Given the description of an element on the screen output the (x, y) to click on. 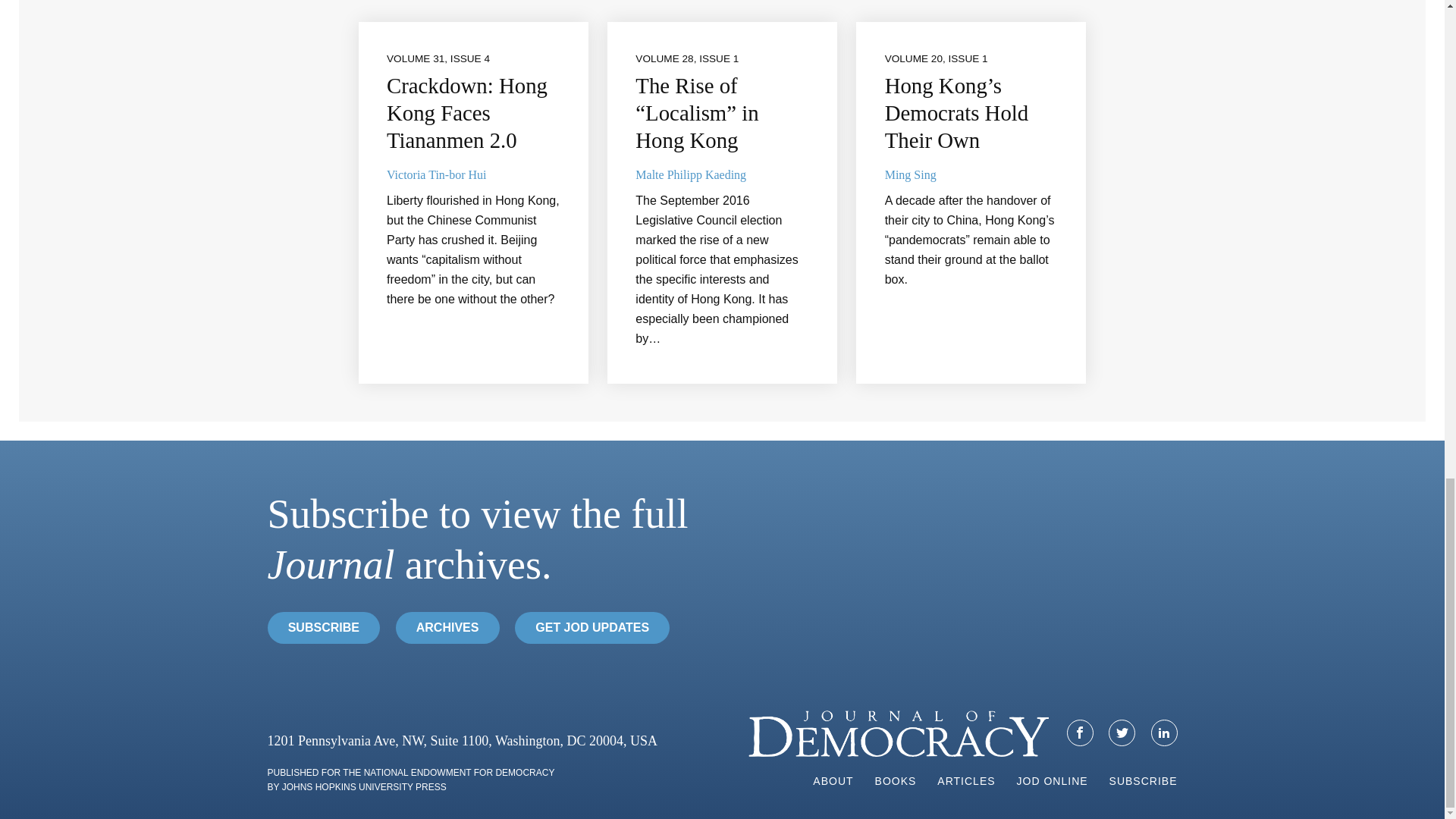
twitter (1122, 732)
linkedin (1163, 732)
Twitter (1121, 732)
Facebook (1080, 732)
LinkedIn (1164, 732)
facebook (1080, 732)
